Given the description of an element on the screen output the (x, y) to click on. 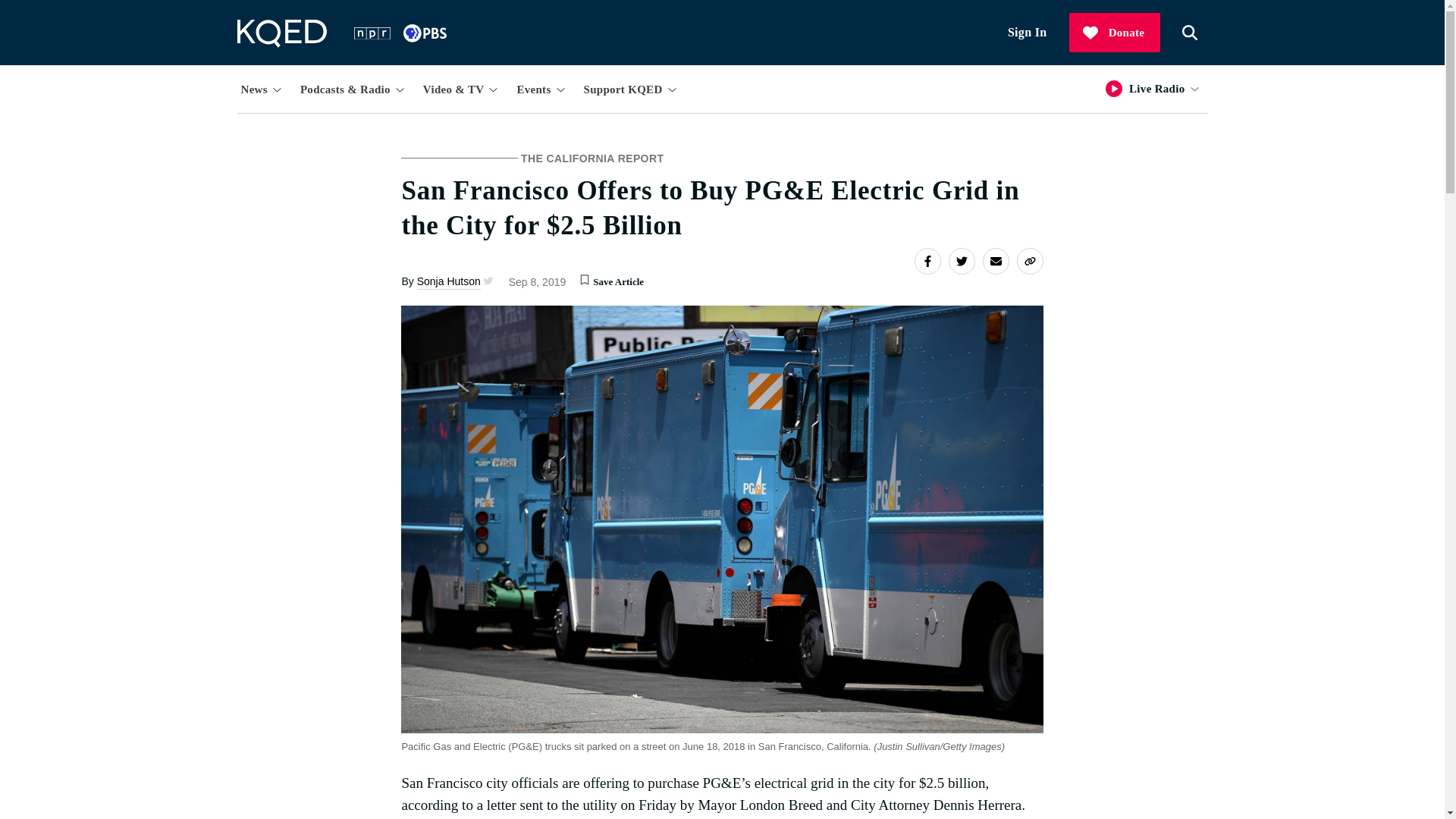
Sonja Hutson on Twitter (486, 281)
Save Article (584, 279)
Sign In (1027, 32)
News (262, 88)
Donate (1114, 32)
